Given the description of an element on the screen output the (x, y) to click on. 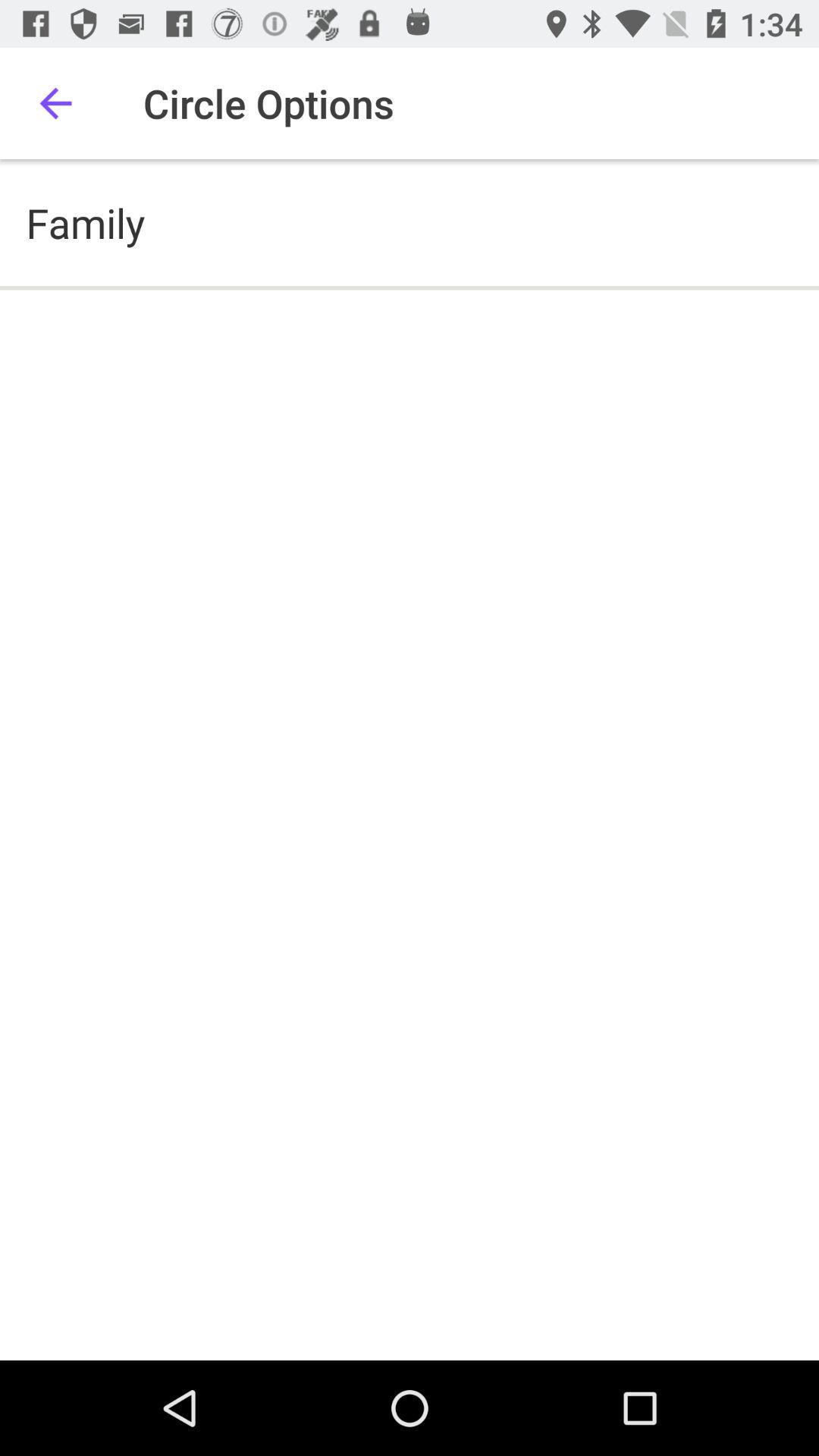
turn off icon to the left of circle options icon (55, 103)
